Given the description of an element on the screen output the (x, y) to click on. 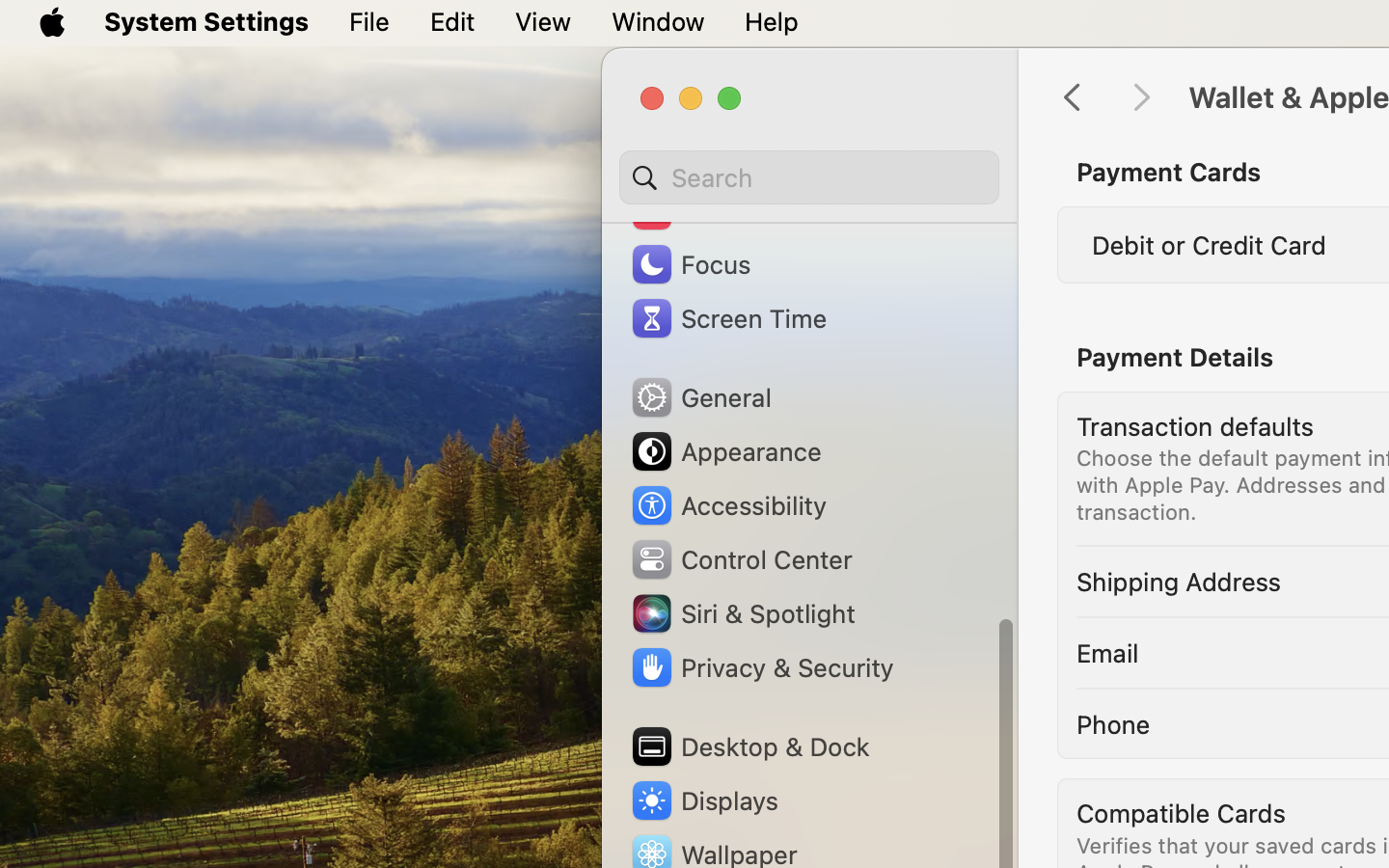
Screen Time Element type: AXStaticText (727, 318)
Sound Element type: AXStaticText (692, 210)
Debit or Credit Card Element type: AXStaticText (1209, 244)
Email Element type: AXStaticText (1107, 651)
Focus Element type: AXStaticText (689, 264)
